Given the description of an element on the screen output the (x, y) to click on. 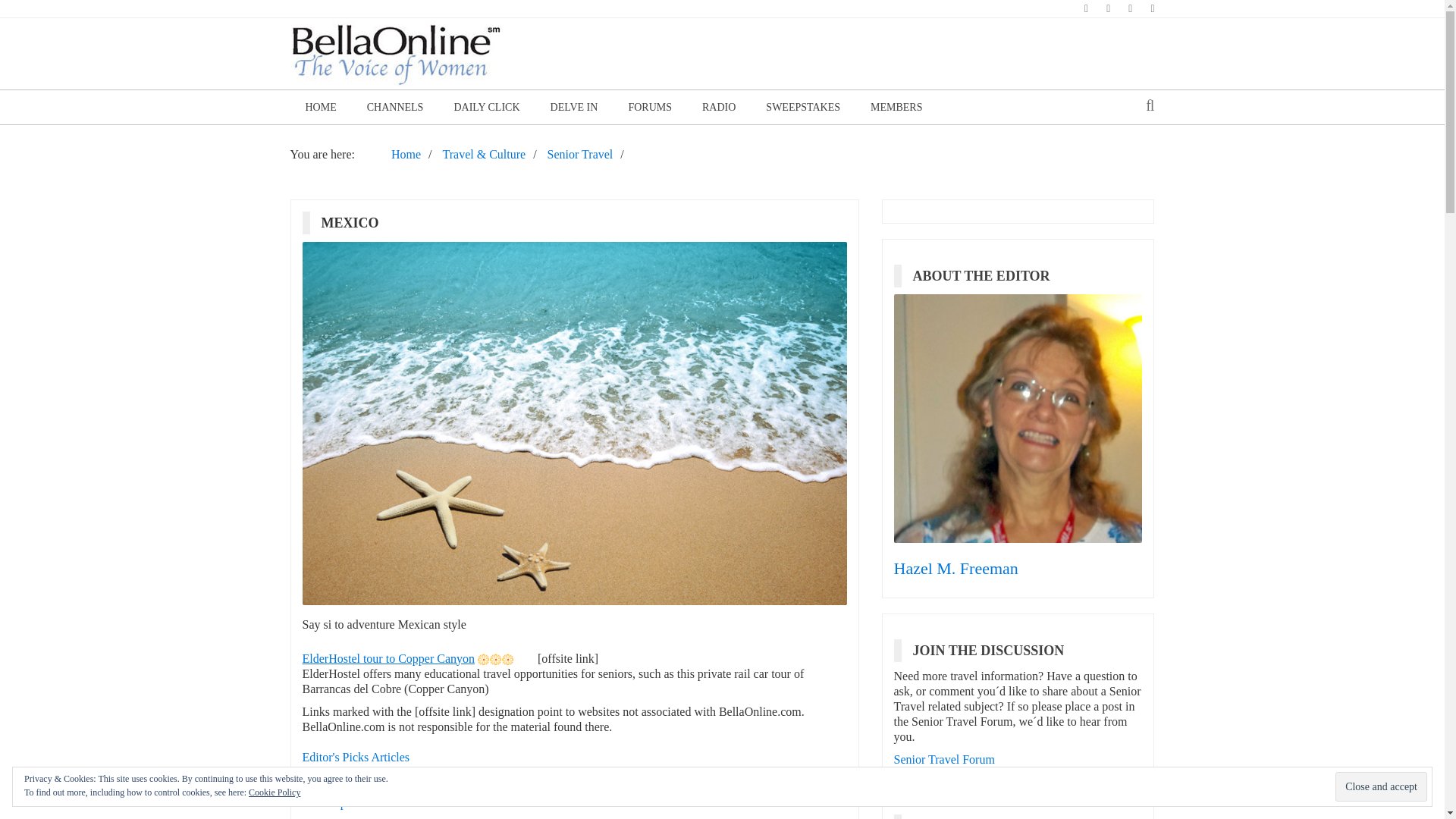
RADIO (719, 107)
SWEEPSTAKES (803, 107)
CHANNELS (395, 107)
Close and accept (1380, 786)
DAILY CLICK (486, 107)
HOME (319, 107)
FORUMS (649, 107)
DELVE IN (573, 107)
